Given the description of an element on the screen output the (x, y) to click on. 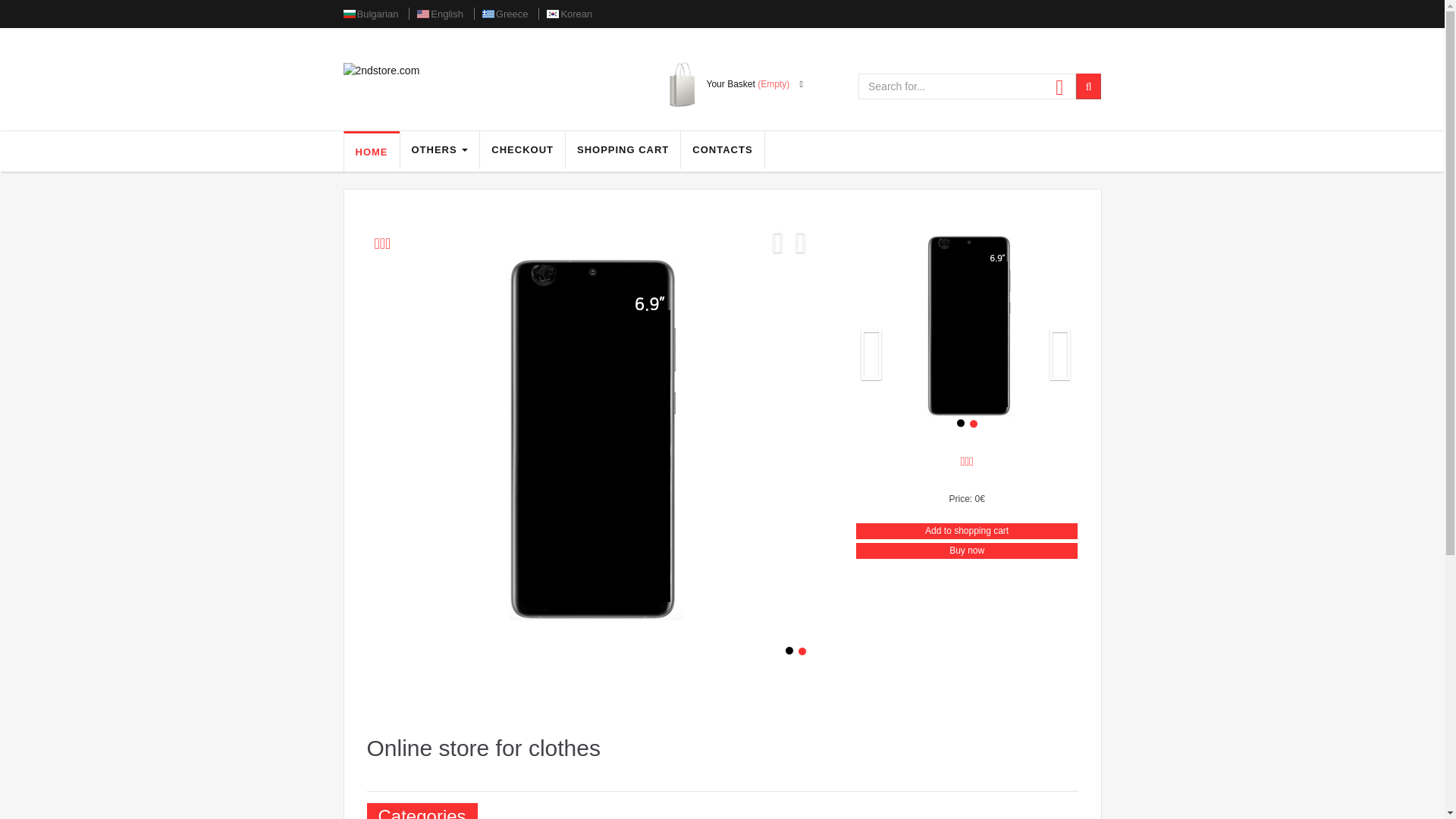
HOME Element type: text (371, 152)
English Element type: text (446, 13)
Korean Element type: text (576, 13)
Add to shopping cart Element type: text (966, 530)
Greece Element type: text (511, 13)
CONTACTS Element type: text (721, 150)
SHOPPING CART Element type: text (622, 150)
OTHERS Element type: text (440, 150)
Bulgarian Element type: text (377, 13)
Your Basket (Empty) Element type: text (754, 84)
CHECKOUT Element type: text (522, 150)
Buy now Element type: text (966, 550)
